Given the description of an element on the screen output the (x, y) to click on. 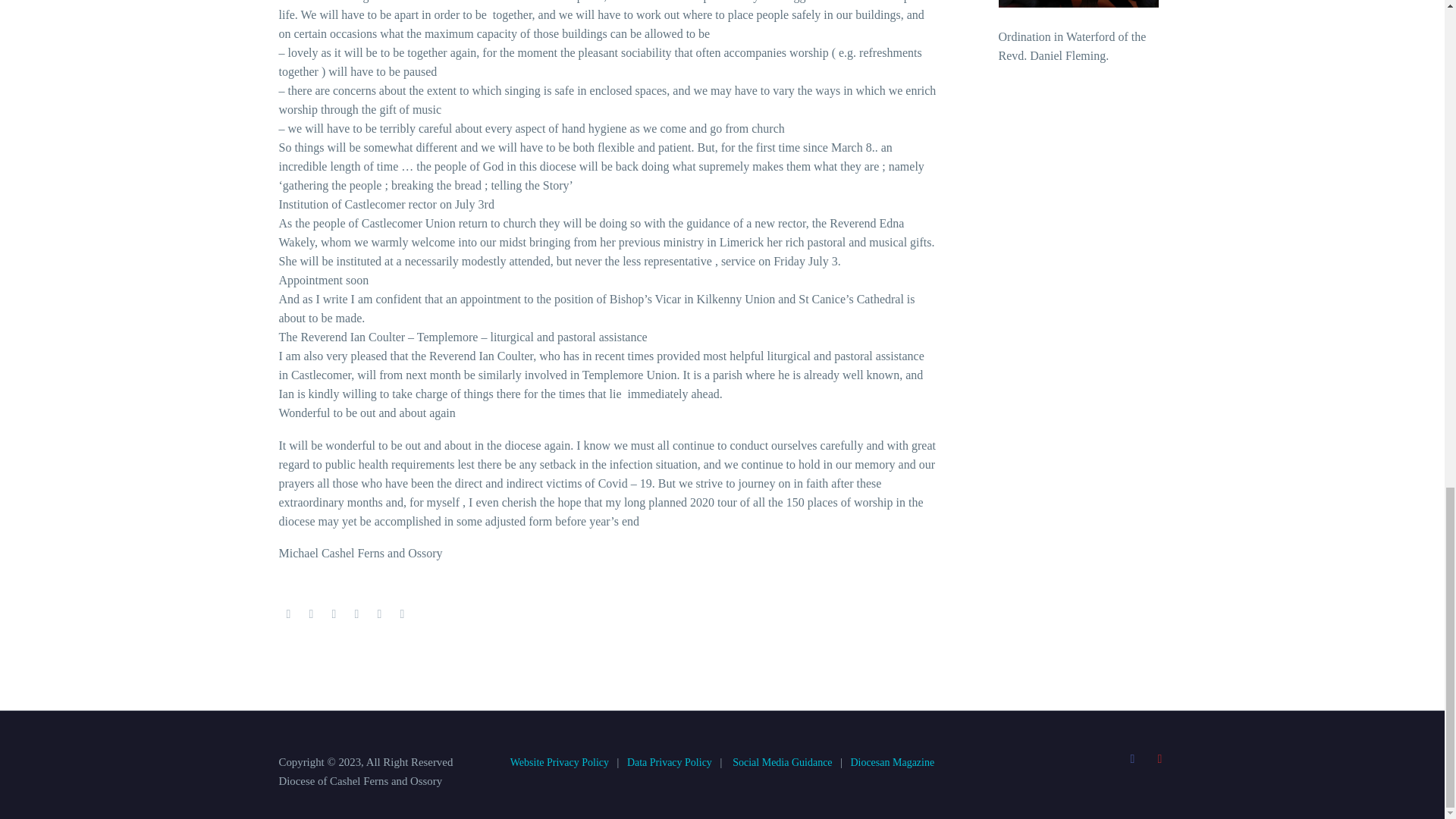
Twitter (310, 613)
Tumblr (356, 613)
Reddit (401, 613)
Pinterest (333, 613)
Facebook (288, 613)
LinkedIn (378, 613)
